Given the description of an element on the screen output the (x, y) to click on. 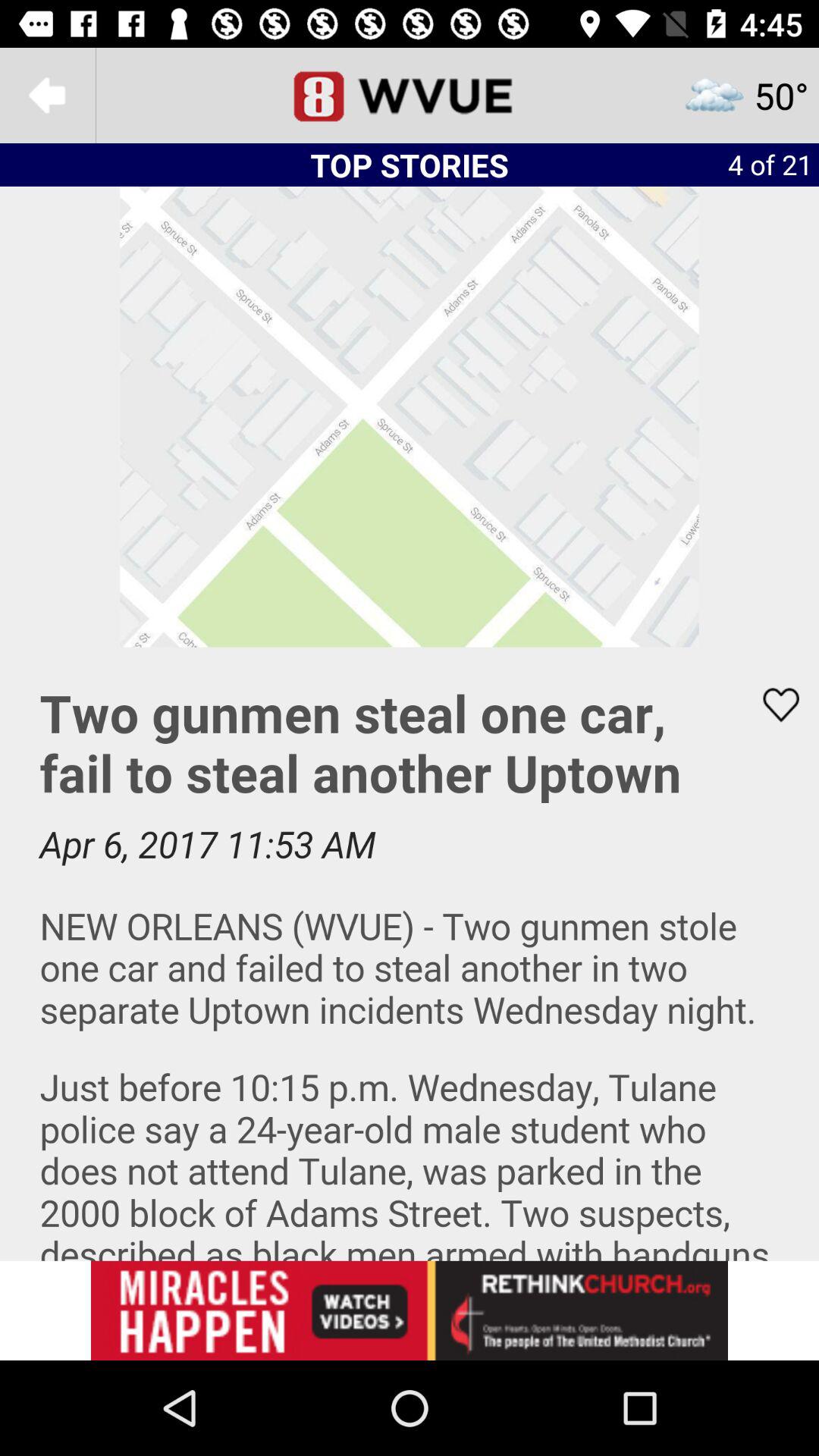
go to home screen (409, 95)
